Given the description of an element on the screen output the (x, y) to click on. 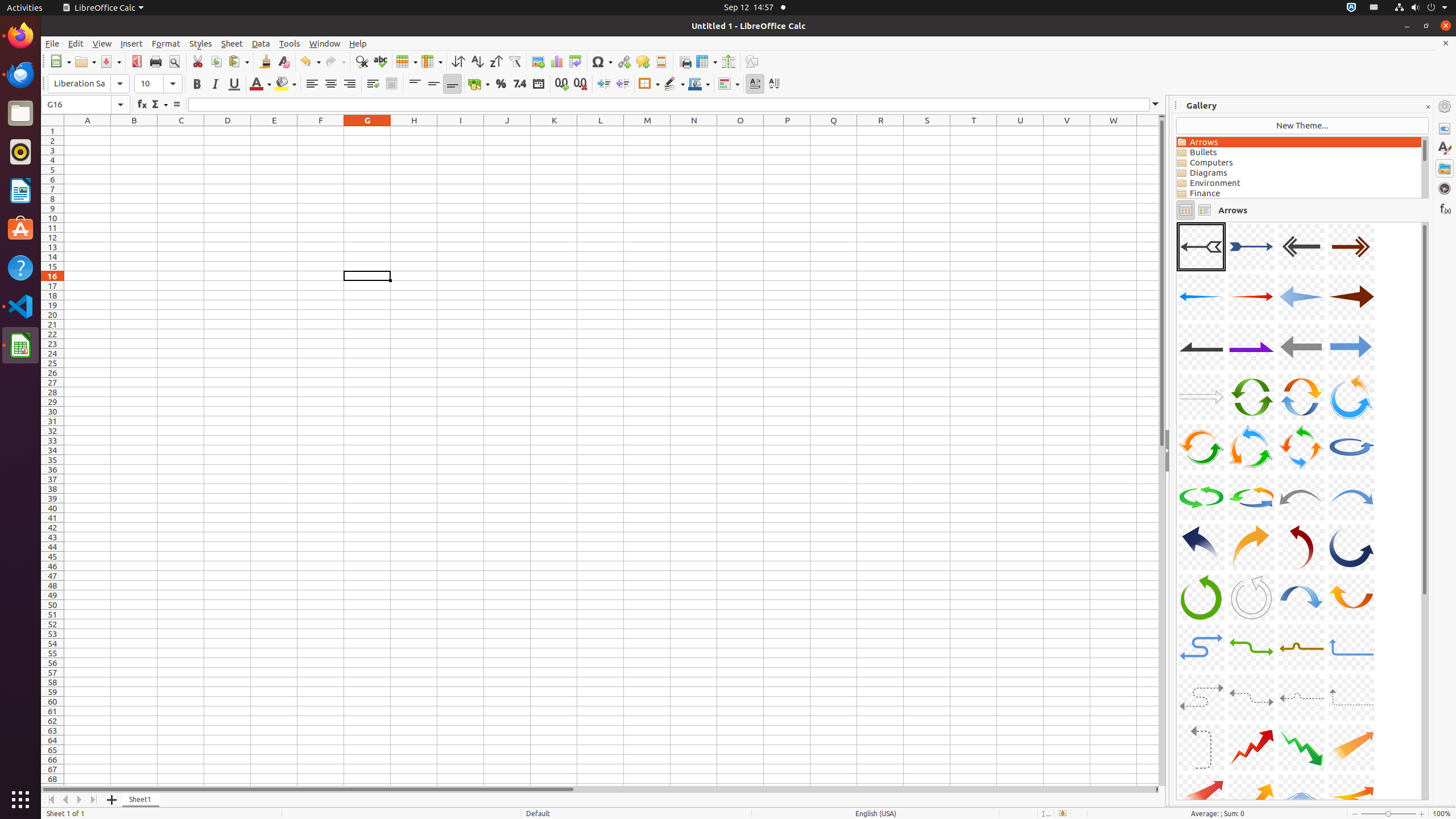
Headers and Footers Element type: push-button (660, 61)
